Given the description of an element on the screen output the (x, y) to click on. 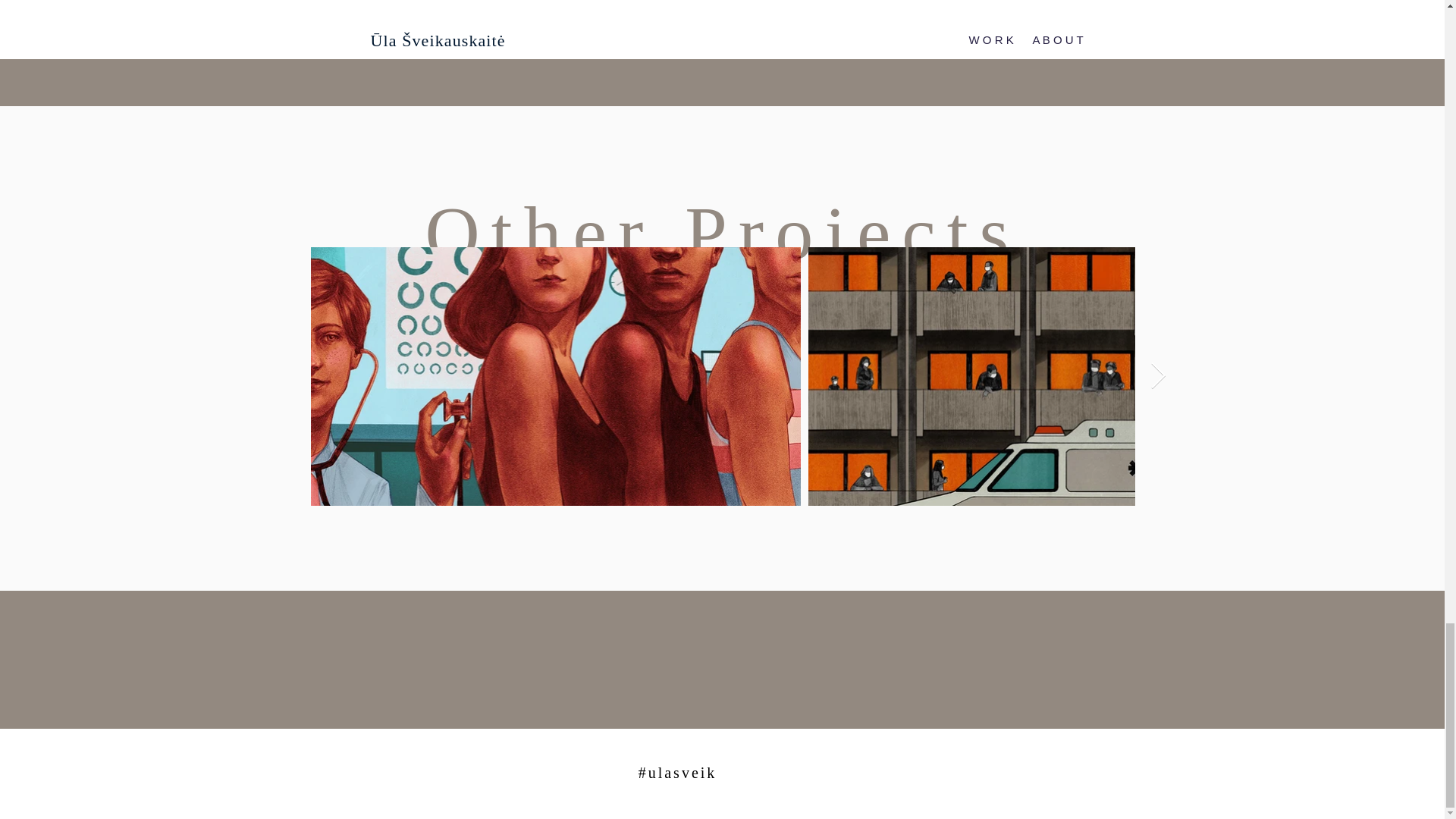
BACK TO WORK (722, 51)
